Given the description of an element on the screen output the (x, y) to click on. 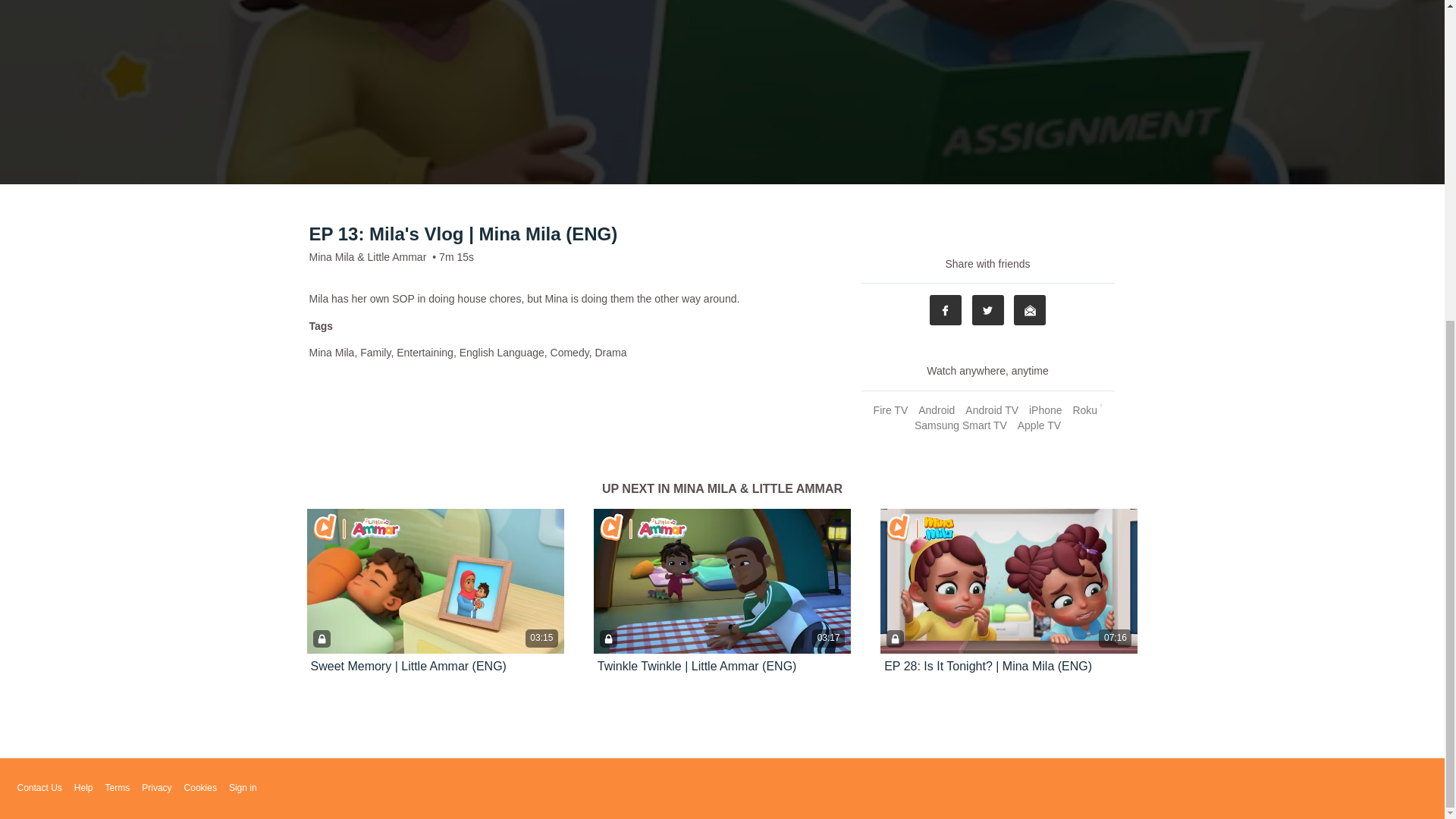
Email (1029, 309)
Help (83, 788)
Contact Us (38, 788)
English Language (502, 352)
Comedy (569, 352)
Family (374, 352)
Drama (610, 352)
Twitter (988, 309)
03:15 (434, 580)
Samsung Smart TV (960, 425)
Fire TV (890, 410)
Facebook (945, 309)
Mina Mila (331, 352)
Entertaining (424, 352)
Android (936, 410)
